Given the description of an element on the screen output the (x, y) to click on. 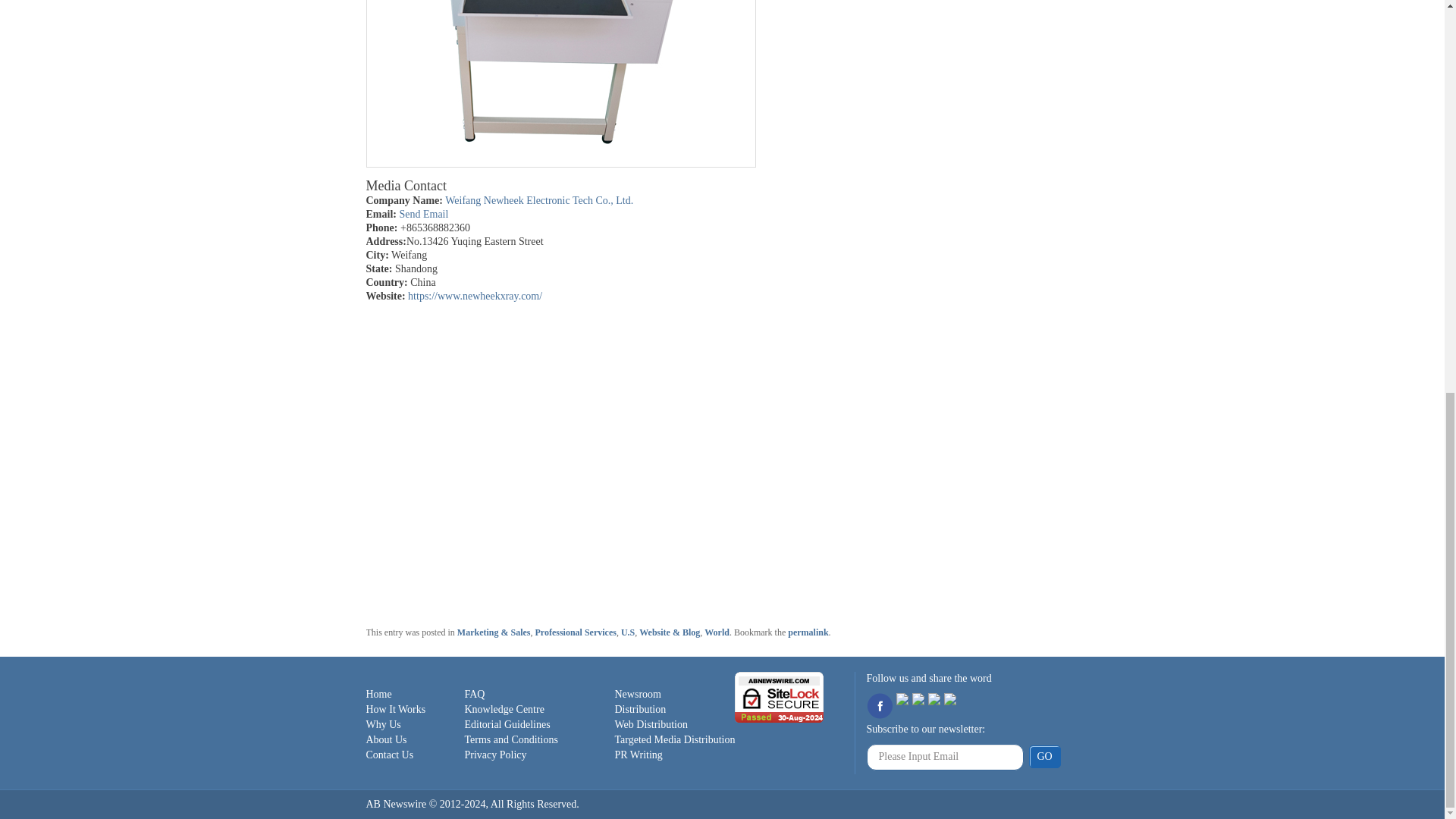
SiteLock (779, 696)
GO (1043, 756)
Permalink to How Does A Fully Automatic Film Processor Work? (807, 632)
Please Input Email (944, 756)
